Given the description of an element on the screen output the (x, y) to click on. 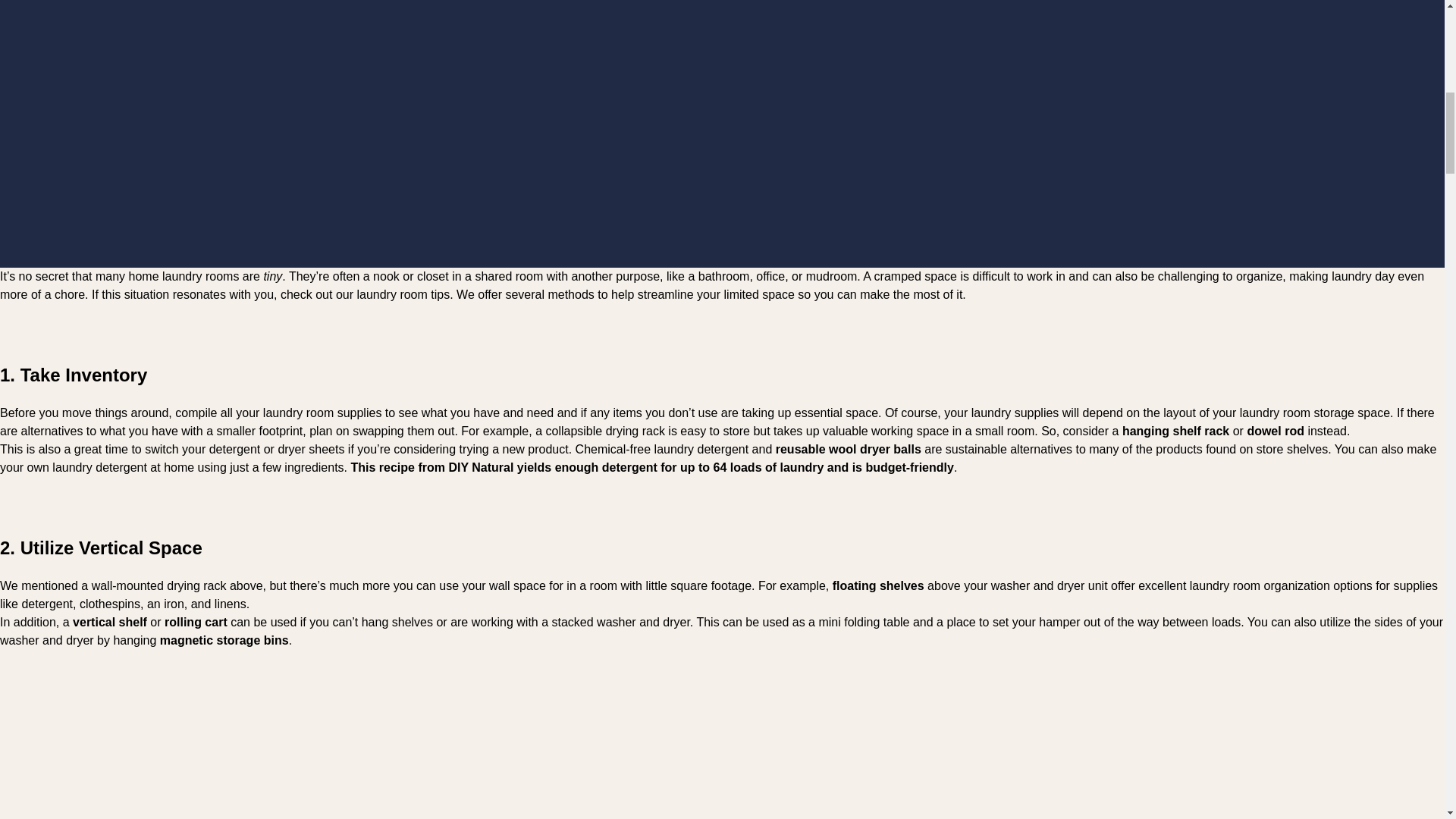
magnetic storage bins (224, 640)
vertical shelf (109, 621)
reusable wool dryer balls (848, 449)
floating shelves (878, 585)
rolling cart (195, 621)
dowel rod (1275, 431)
hanging shelf rack (1175, 431)
